Given the description of an element on the screen output the (x, y) to click on. 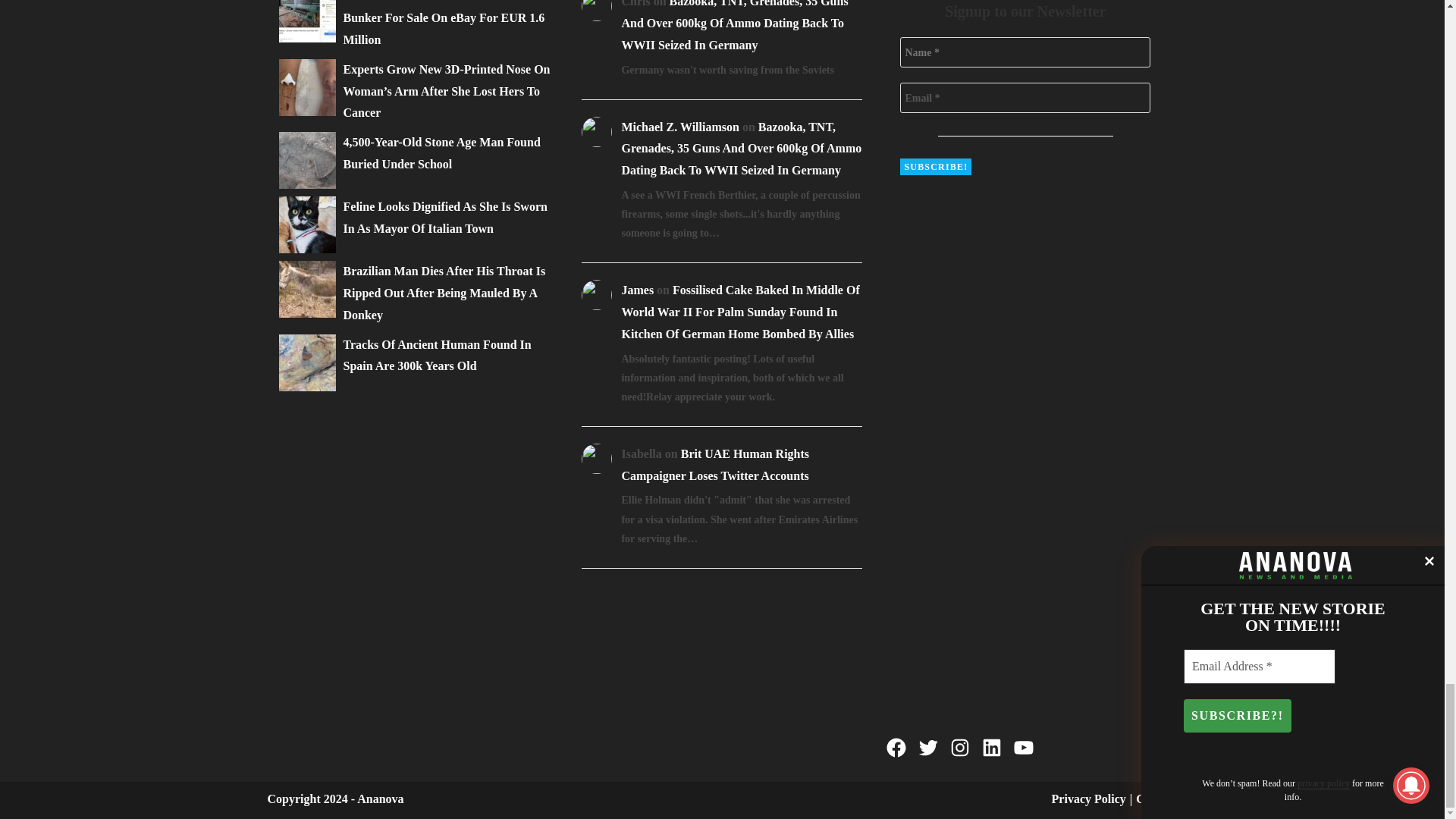
Name (1024, 51)
Subscribe! (935, 166)
Email (1024, 97)
